Given the description of an element on the screen output the (x, y) to click on. 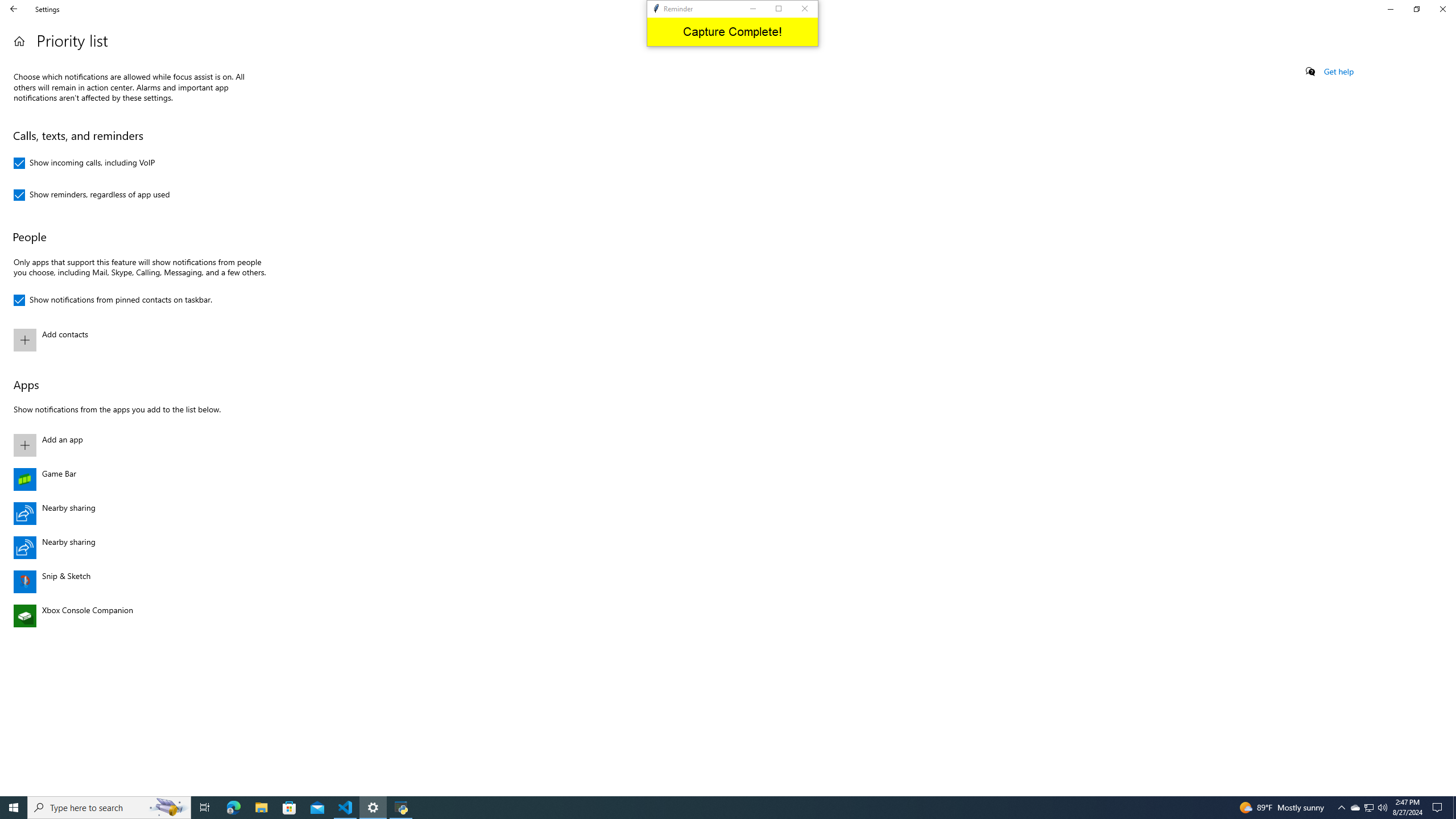
Minimize Settings (1390, 9)
Nearby sharing (137, 547)
Running applications (717, 807)
Close Settings (1442, 9)
Show incoming calls, including VoIP (84, 162)
